Given the description of an element on the screen output the (x, y) to click on. 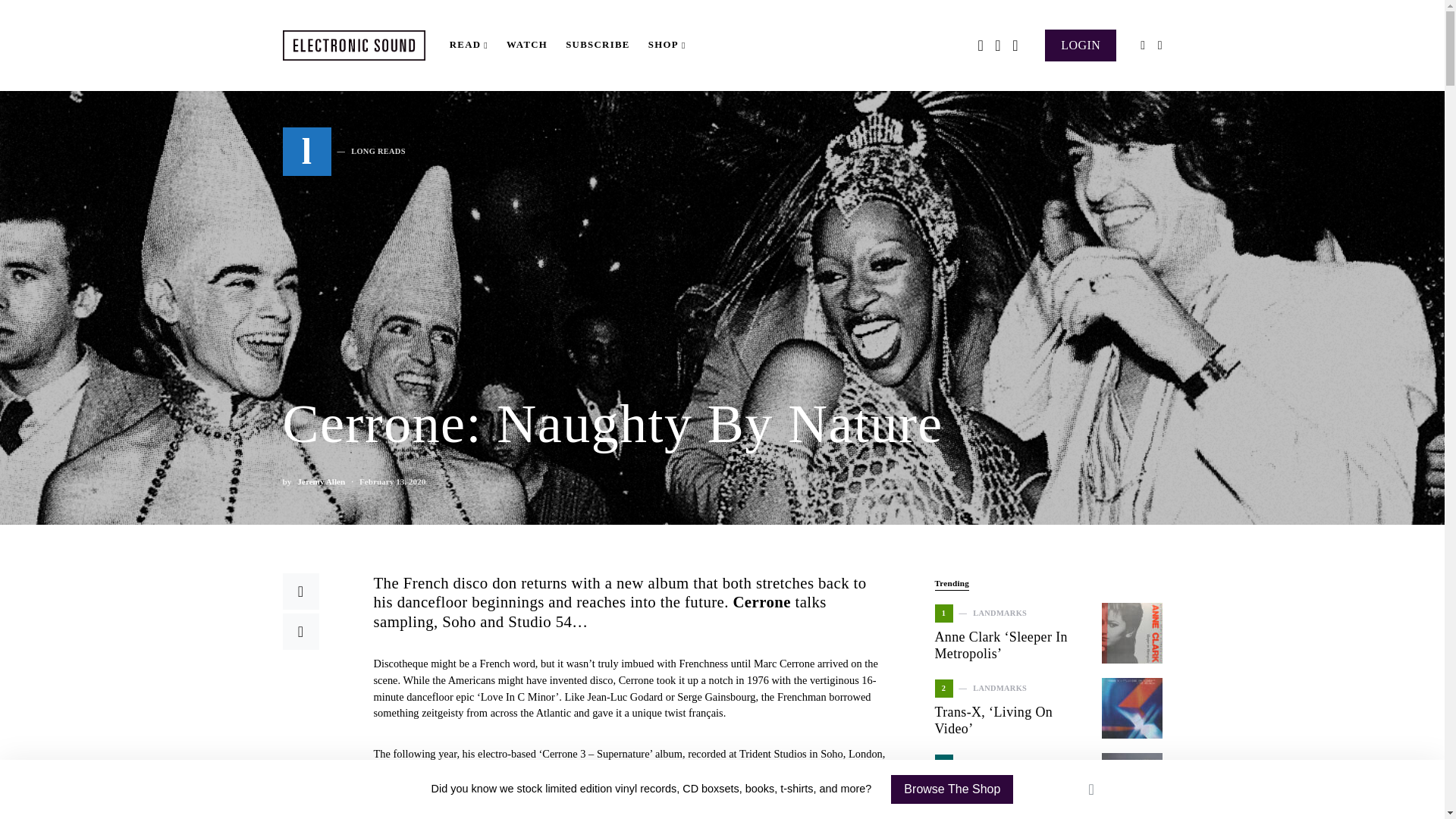
SUBSCRIBE (343, 151)
Jeremy Allen (597, 45)
LOGIN (321, 481)
View all posts by Jeremy Allen (1080, 44)
